Given the description of an element on the screen output the (x, y) to click on. 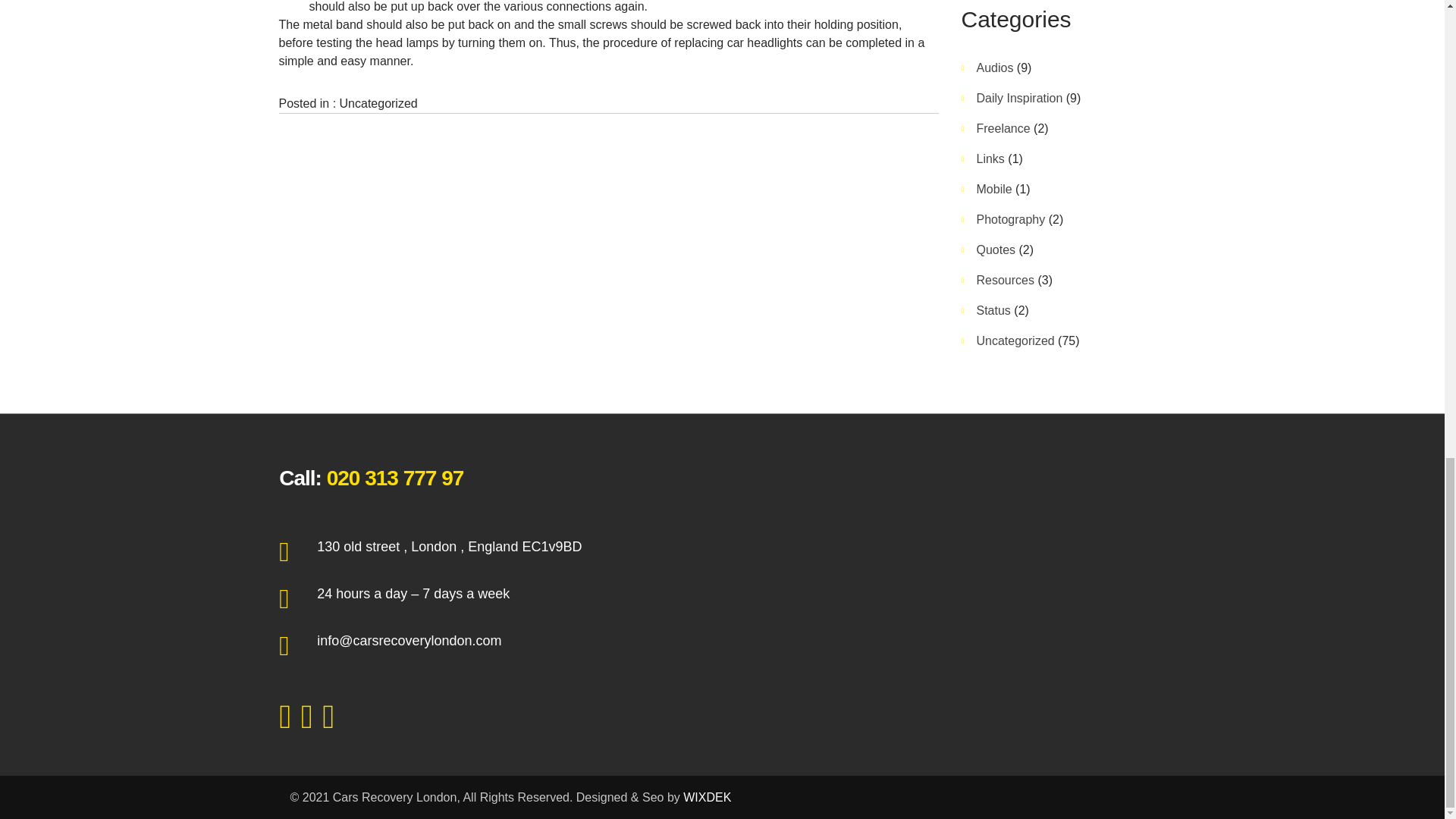
Uncategorized (378, 103)
